Given the description of an element on the screen output the (x, y) to click on. 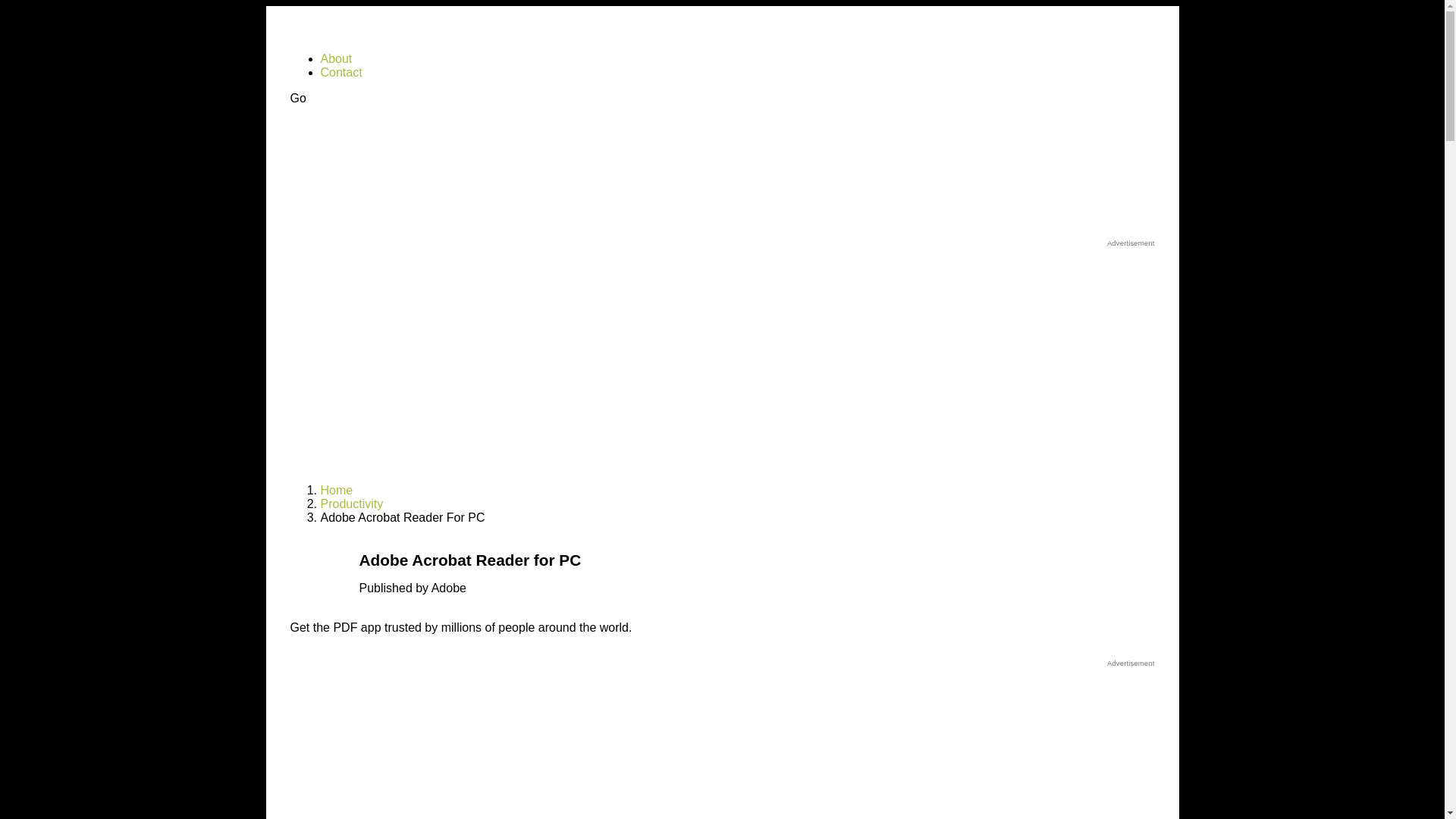
About (336, 58)
Home (336, 490)
Advertisement (721, 743)
Contact (340, 72)
Productivity (351, 503)
Adobe Acrobat Reader for PC (317, 577)
